Given the description of an element on the screen output the (x, y) to click on. 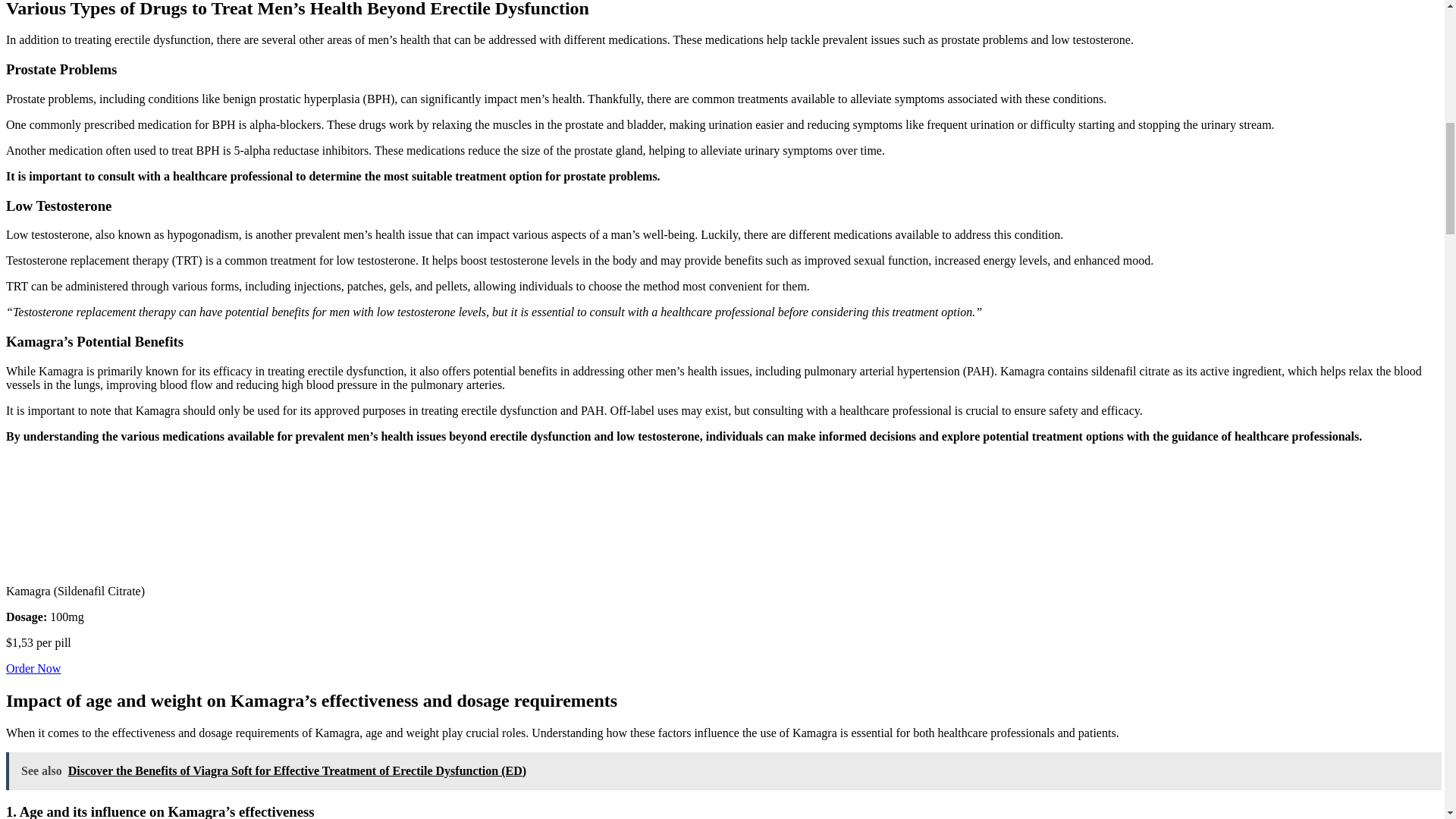
Order Now (33, 667)
